Given the description of an element on the screen output the (x, y) to click on. 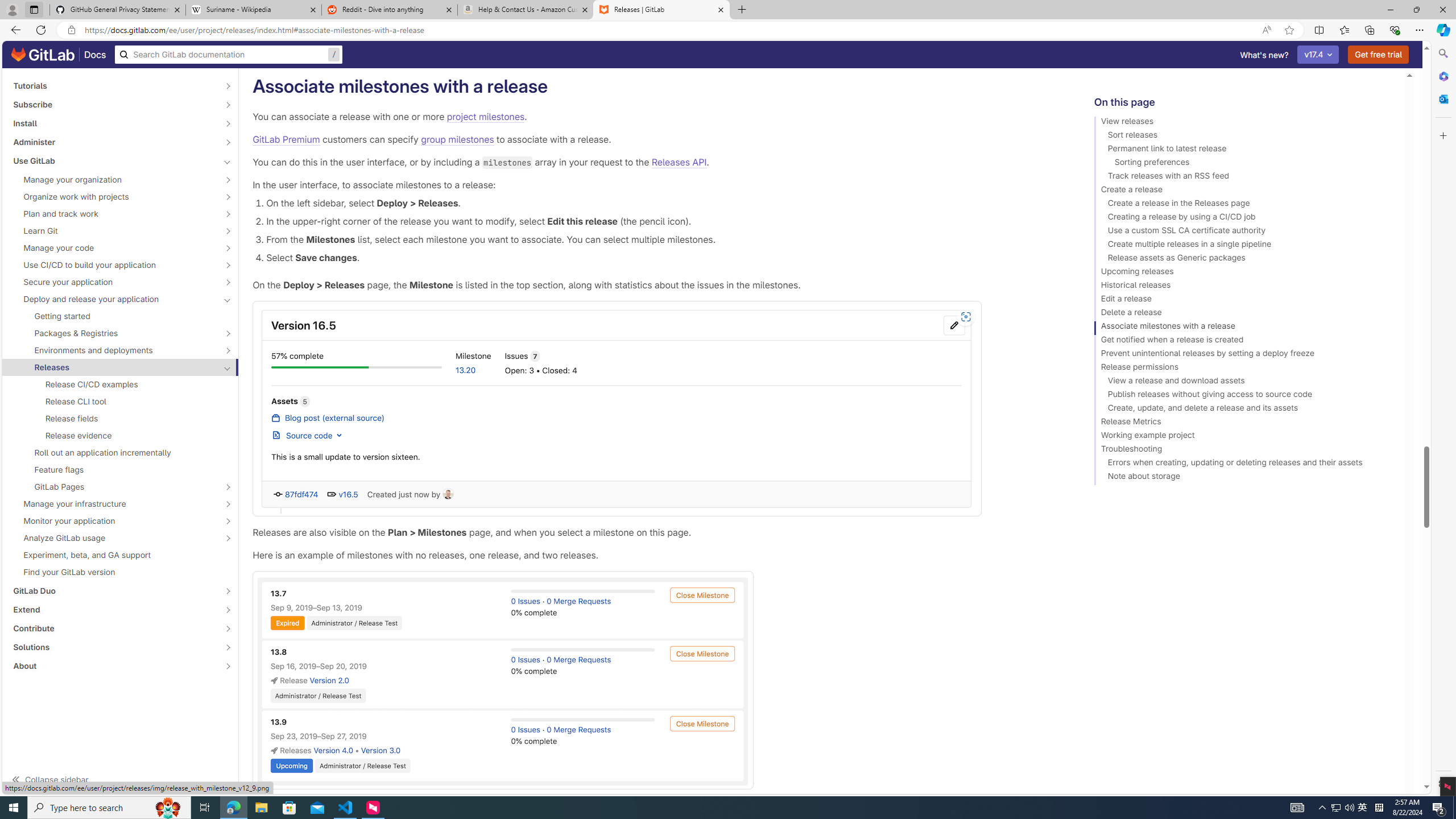
Release Metrics (1244, 423)
Packages & Registries (113, 333)
Troubleshooting (1244, 450)
Upcoming releases (1244, 273)
Install (113, 122)
/ (229, 54)
Releases API (678, 161)
Troubleshooting (1244, 450)
Create multiple releases in a single pipeline (1244, 246)
Create, update, and delete a release and its assets (1244, 409)
Roll out an application incrementally (120, 452)
Release evidence (120, 435)
